Given the description of an element on the screen output the (x, y) to click on. 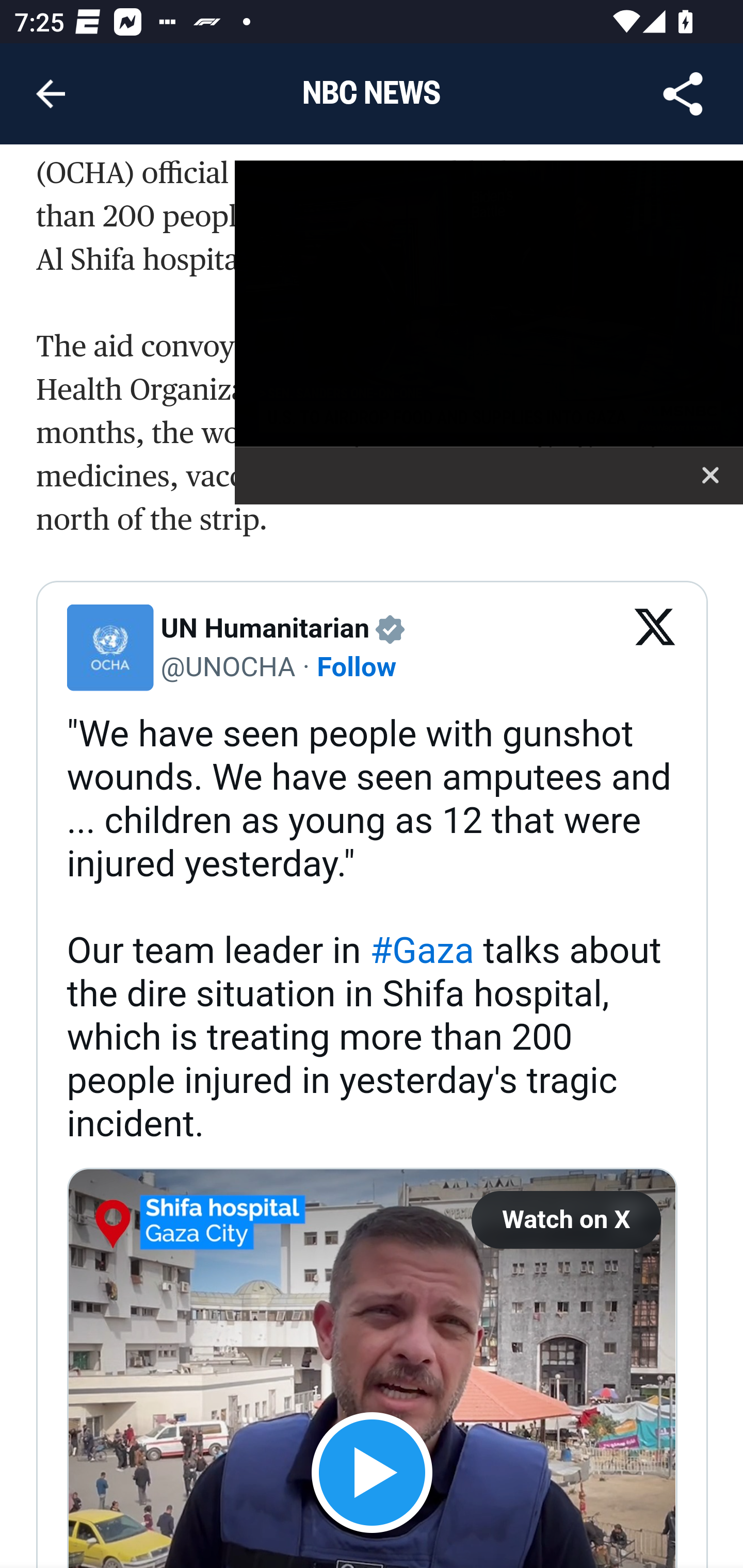
Navigate up (50, 93)
Share Article, button (683, 94)
View on X (655, 649)
@UNOCHA (227, 667)
Follow (356, 667)
#Gaza (421, 952)
Play Video Play Video Watch on X Watch on X (372, 1368)
Watch on X (565, 1221)
Play Video (371, 1473)
